Given the description of an element on the screen output the (x, y) to click on. 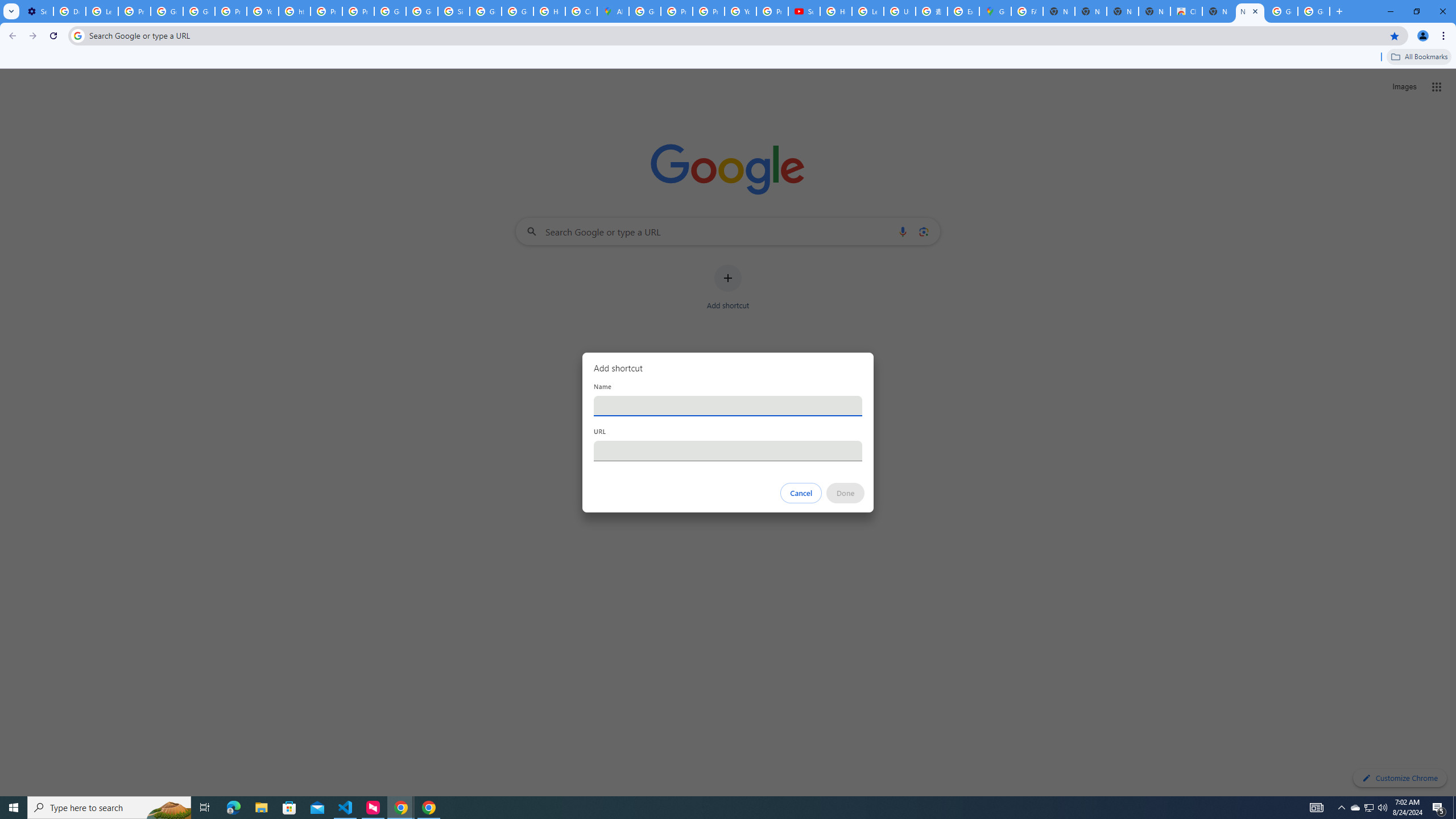
Learn how to find your photos - Google Photos Help (101, 11)
Create your Google Account (581, 11)
Google Images (1313, 11)
YouTube (262, 11)
New Tab (1249, 11)
Google Account Help (166, 11)
